Given the description of an element on the screen output the (x, y) to click on. 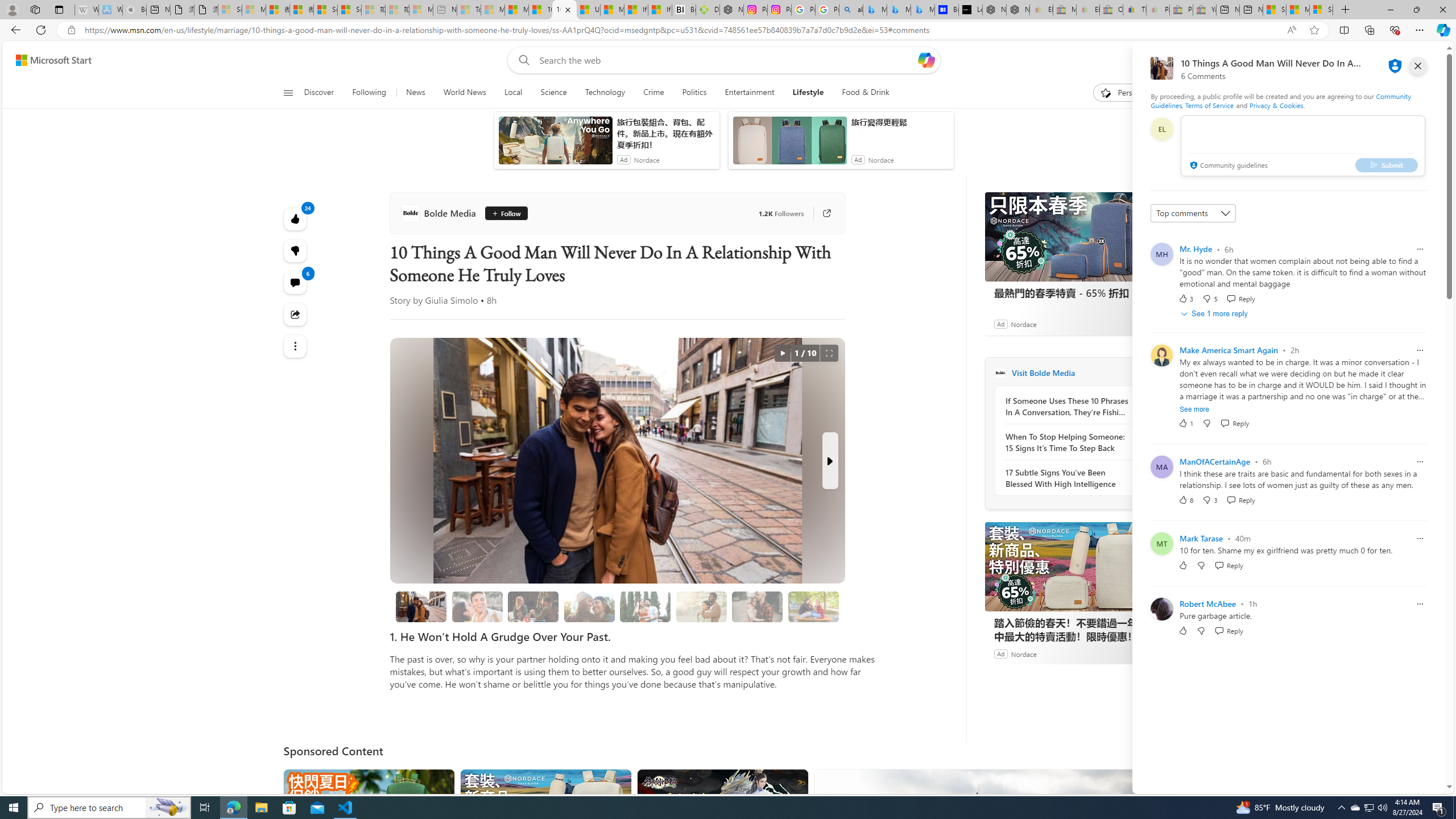
Top Stories - MSN - Sleeping (469, 9)
Payments Terms of Use | eBay.com - Sleeping (1157, 9)
Yard, Garden & Outdoor Living - Sleeping (1204, 9)
Technology (605, 92)
Microsoft Bing Travel - Flights from Hong Kong to Bangkok (874, 9)
View comments 6 Comment (295, 282)
News (414, 92)
Open settings (1420, 60)
